Given the description of an element on the screen output the (x, y) to click on. 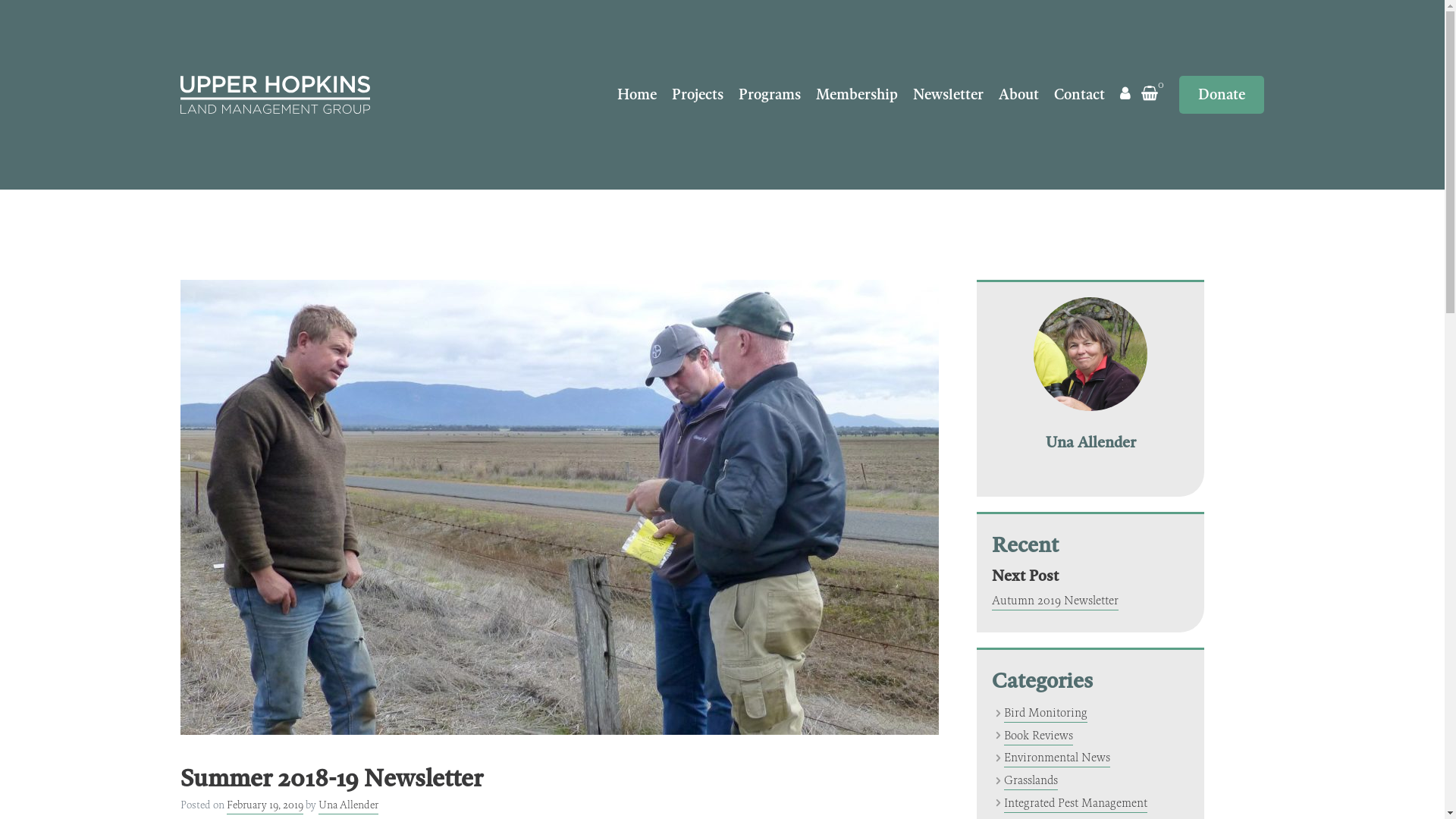
Programs Element type: text (769, 94)
Integrated Pest Management Element type: text (1075, 802)
Newsletter Element type: text (948, 94)
Una Allender Element type: text (348, 804)
Book Reviews Element type: text (1038, 735)
Environmental News Element type: text (1057, 756)
Grasslands Element type: text (1030, 779)
Projects Element type: text (697, 94)
Autumn 2019 Newsletter Element type: text (1054, 600)
Donate Element type: text (1221, 94)
Contact Element type: text (1079, 94)
Home Element type: text (636, 94)
0 Element type: text (1152, 94)
Membership Element type: text (856, 94)
February 19, 2019 Element type: text (264, 804)
About Element type: text (1018, 94)
Bird Monitoring Element type: text (1045, 712)
